Given the description of an element on the screen output the (x, y) to click on. 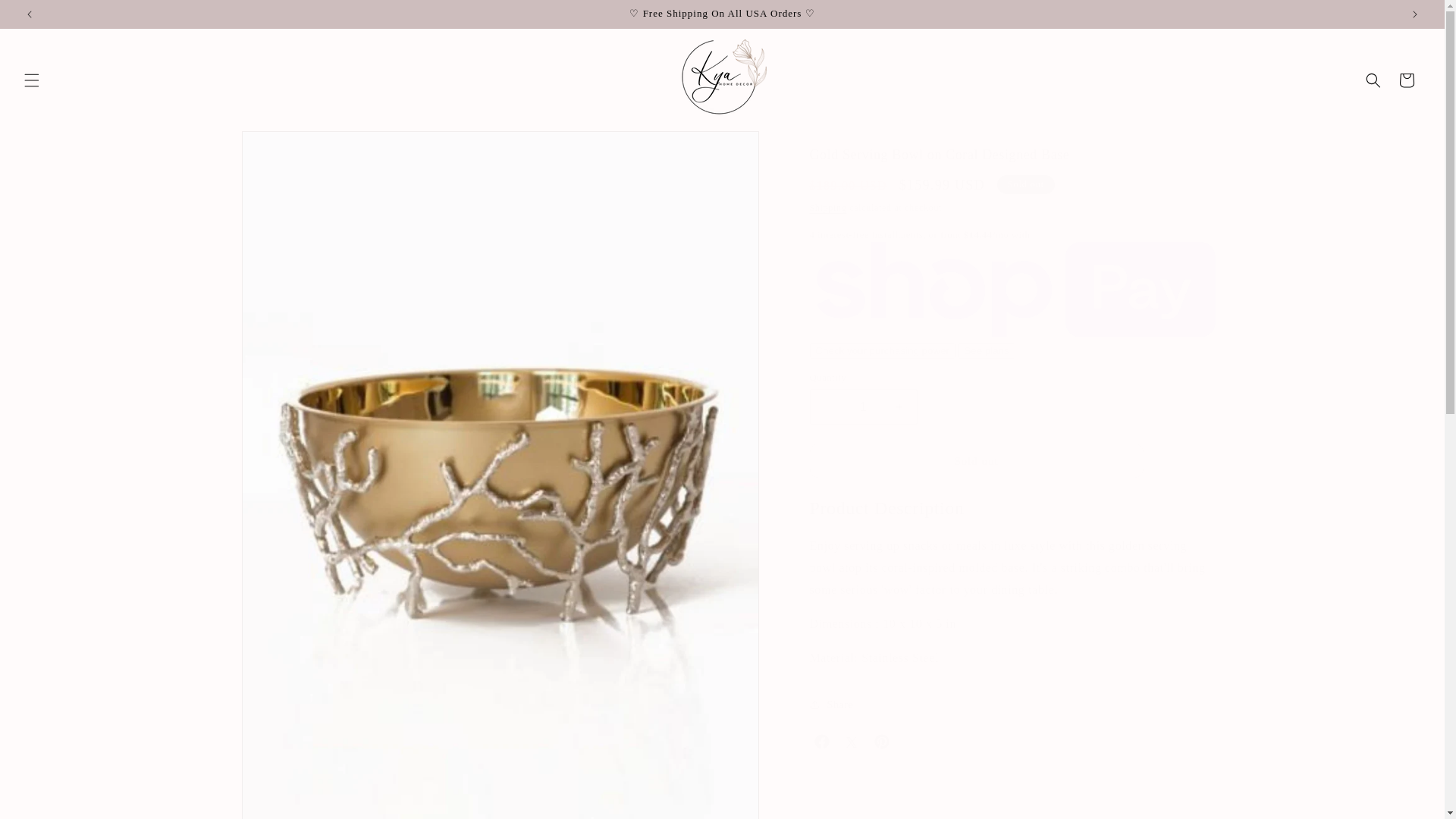
Skip to content (45, 16)
1 (863, 407)
